Given the description of an element on the screen output the (x, y) to click on. 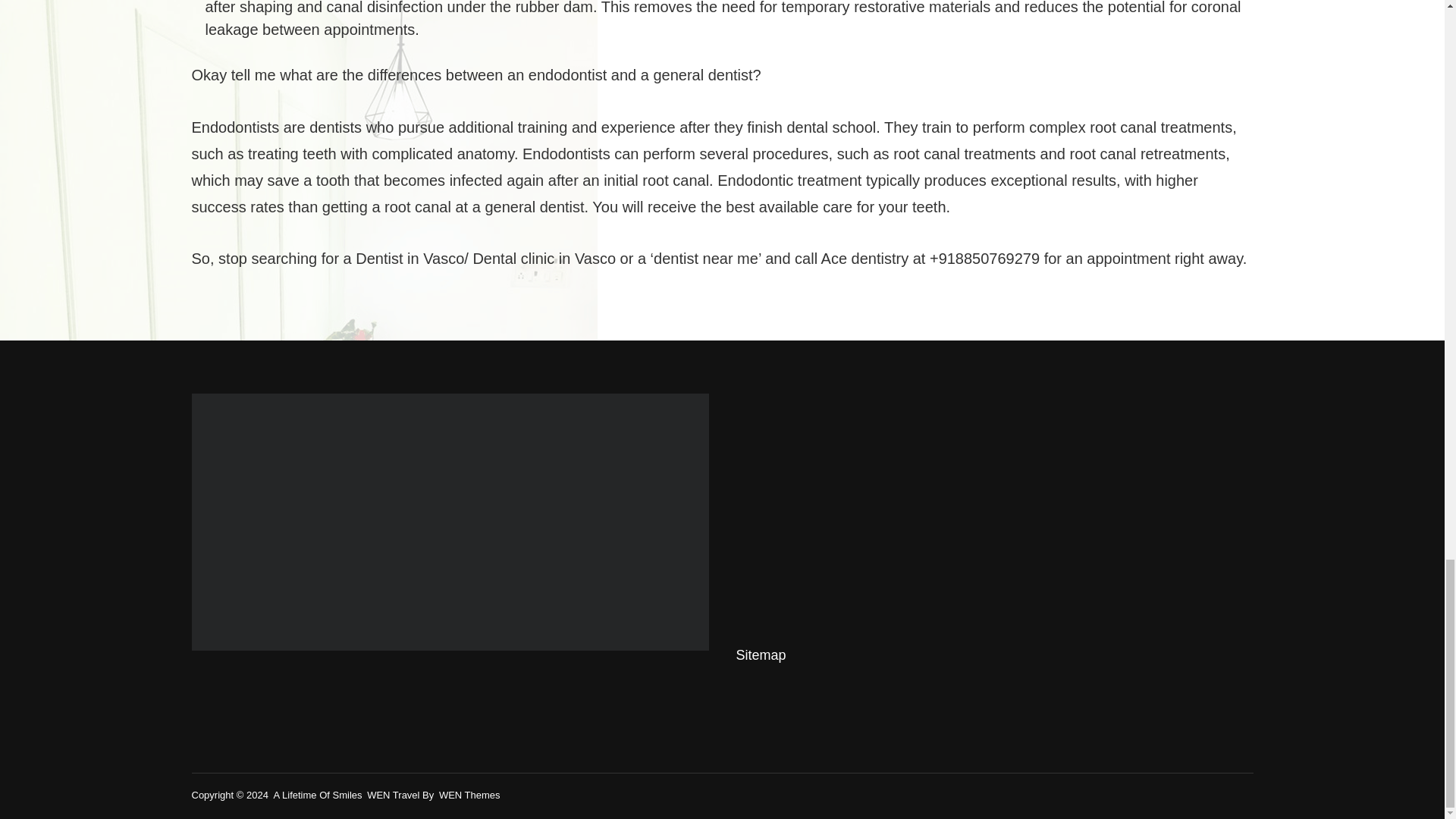
WEN Themes (469, 794)
Sitemap (760, 654)
A Lifetime Of Smiles (317, 794)
